Given the description of an element on the screen output the (x, y) to click on. 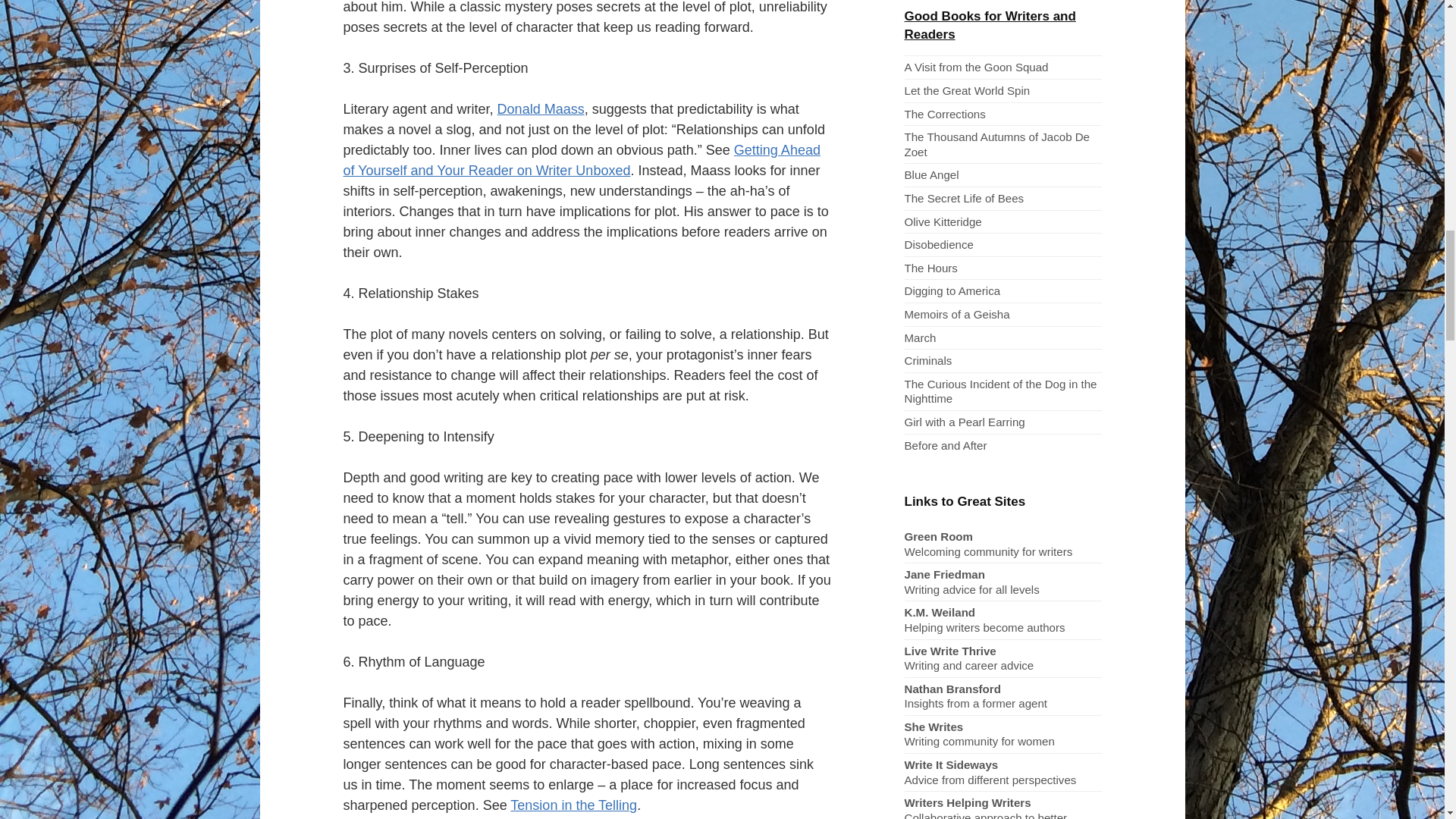
Tension in the Telling (574, 805)
Donald Maass (541, 109)
Getting Ahead of Yourself and Your Reader on Writer Unboxed (580, 160)
